Given the description of an element on the screen output the (x, y) to click on. 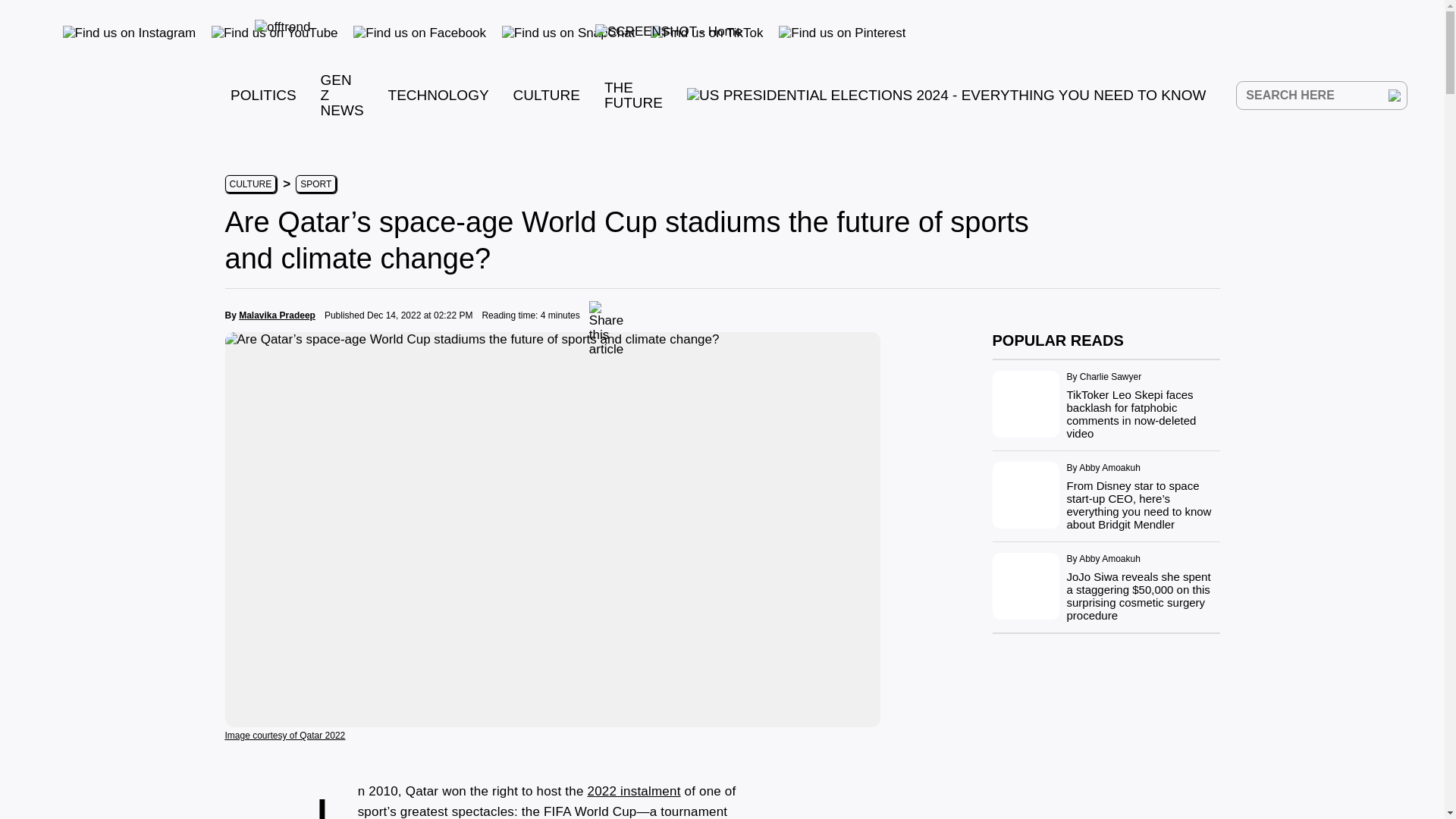
2022 instalment (634, 790)
Image courtesy of Qatar 2022 (284, 734)
SPORT (315, 184)
CULTURE (249, 184)
THE FUTURE (633, 94)
POLITICS (263, 94)
Malavika Pradeep (276, 315)
TECHNOLOGY (438, 94)
CULTURE (546, 94)
GEN Z NEWS (342, 94)
